Given the description of an element on the screen output the (x, y) to click on. 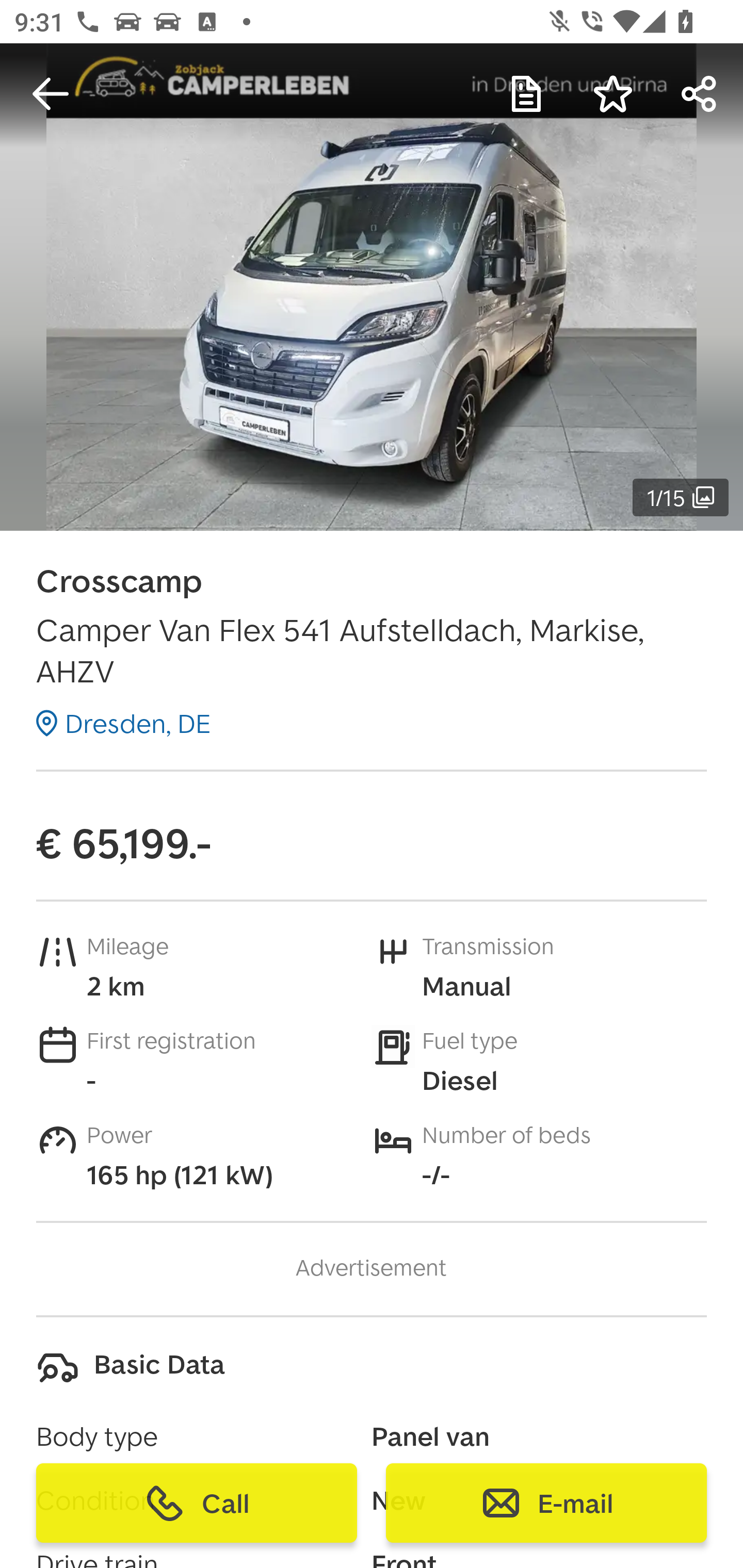
Navigate up (50, 93)
My Notes (525, 93)
Save (612, 93)
Forward (699, 93)
Dresden, DE (123, 722)
Call (196, 1502)
E-mail (545, 1502)
